Given the description of an element on the screen output the (x, y) to click on. 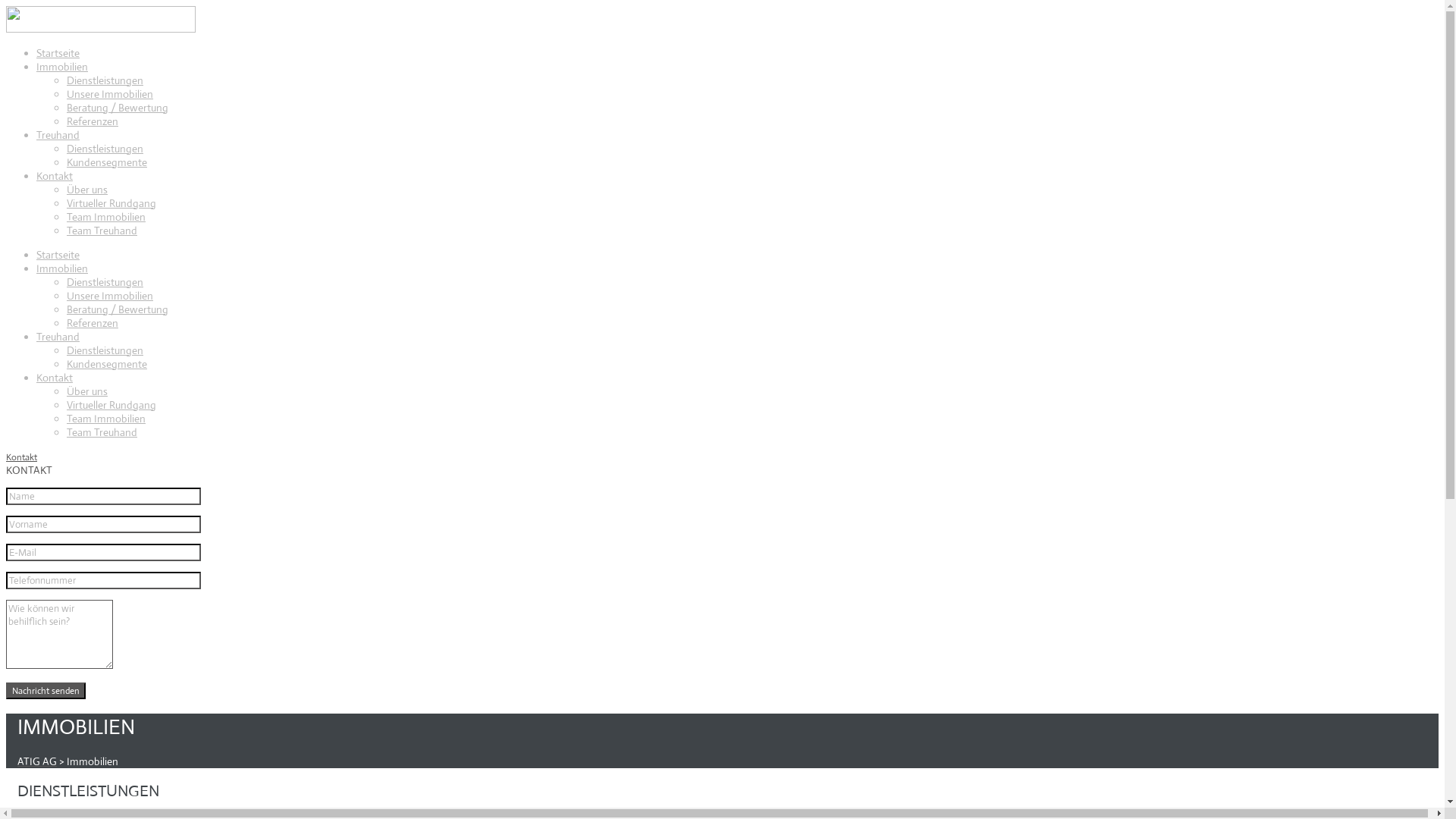
Virtueller Rundgang Element type: text (111, 203)
Referenzen Element type: text (92, 322)
Kontakt Element type: text (21, 457)
Unsere Immobilien Element type: text (109, 295)
Treuhand Element type: text (57, 134)
Immobilien Element type: text (61, 66)
Startseite Element type: text (57, 254)
Beratung / Bewertung Element type: text (117, 107)
Team Immobilien Element type: text (105, 418)
Team Immobilien Element type: text (105, 216)
Kundensegmente Element type: text (106, 162)
Virtueller Rundgang Element type: text (111, 404)
Dienstleistungen Element type: text (104, 148)
Dienstleistungen Element type: text (104, 281)
Treuhand Element type: text (57, 336)
Kundensegmente Element type: text (106, 363)
Unsere Immobilien Element type: text (109, 93)
Team Treuhand Element type: text (101, 230)
Immobilien Element type: text (61, 268)
Beratung / Bewertung Element type: text (117, 309)
Referenzen Element type: text (92, 121)
Kontakt Element type: text (54, 175)
Team Treuhand Element type: text (101, 432)
Kontakt Element type: text (54, 377)
Dienstleistungen Element type: text (104, 350)
ATIG AG Element type: text (36, 760)
Startseite Element type: text (57, 52)
Nachricht senden Element type: text (45, 690)
Dienstleistungen Element type: text (104, 80)
